Given the description of an element on the screen output the (x, y) to click on. 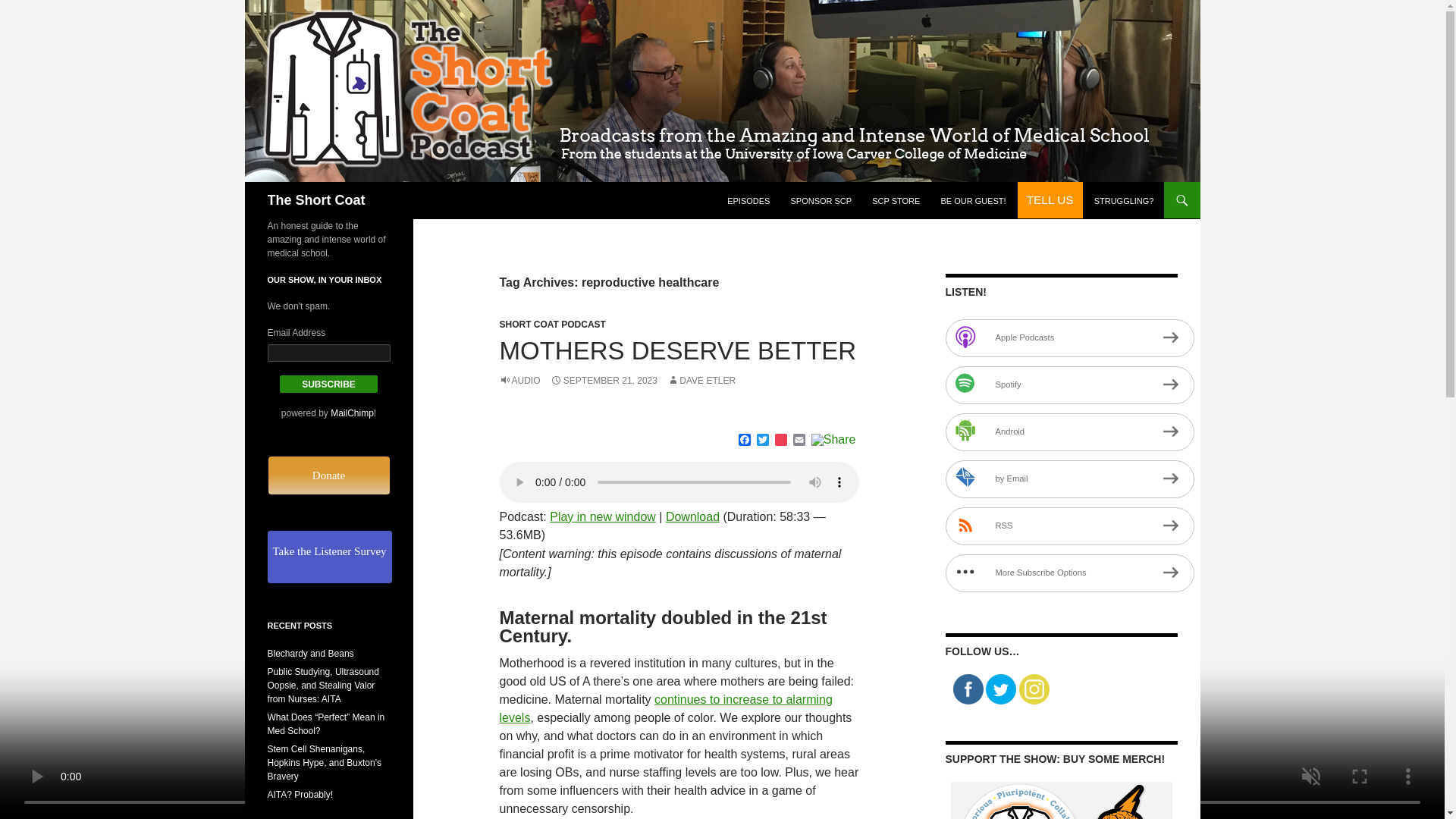
AUDIO (519, 380)
Email (799, 440)
continues to increase to alarming levels (665, 707)
calltoaction (1050, 199)
Subscribe on Apple Podcasts (1068, 338)
Subscribe via RSS (1068, 525)
SHORT COAT PODCAST (552, 324)
Subscribe by Email (1068, 478)
Email (799, 440)
